Given the description of an element on the screen output the (x, y) to click on. 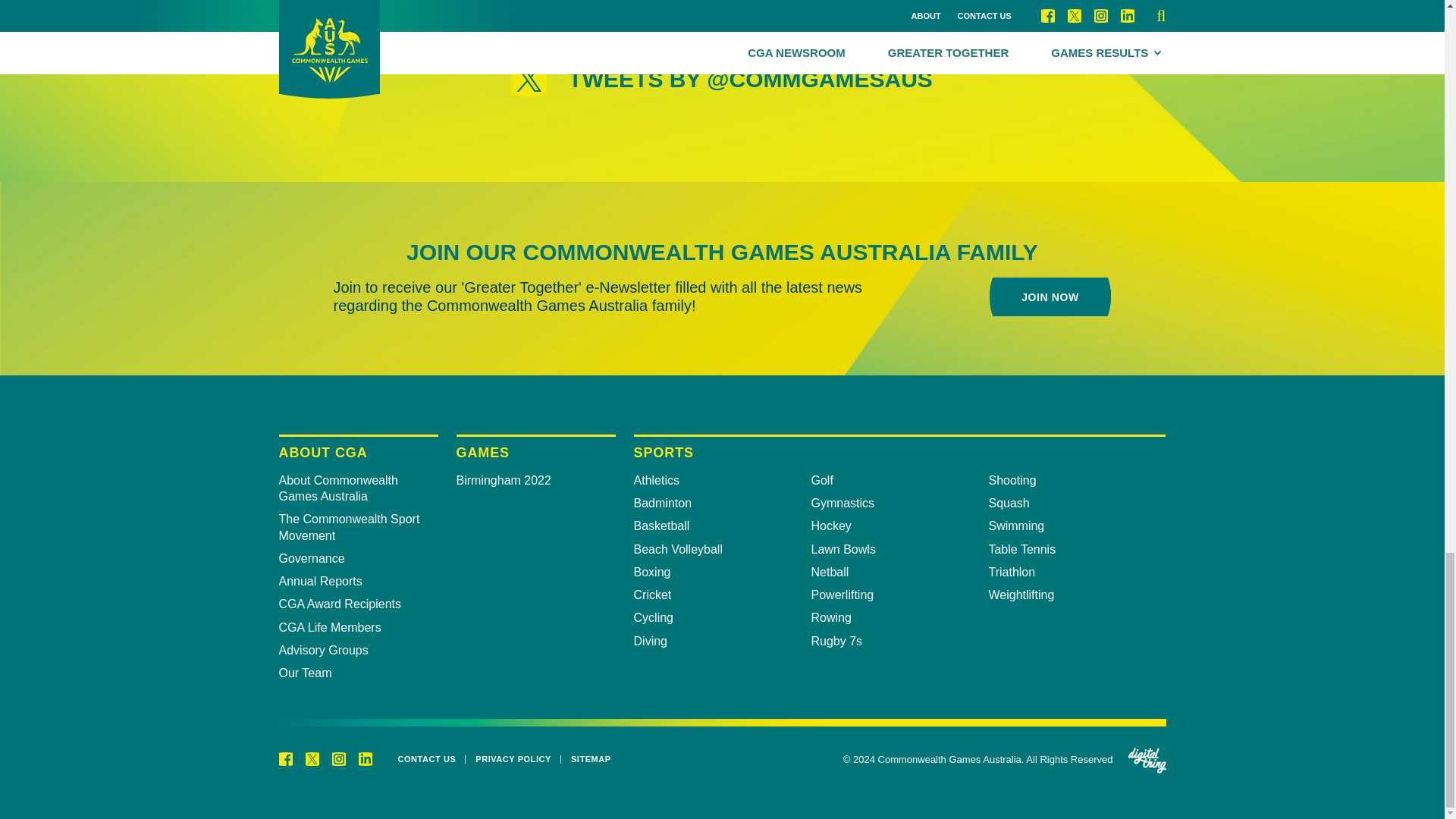
Melbourne Wordpress Developers - Digital Thing (1147, 760)
